Given the description of an element on the screen output the (x, y) to click on. 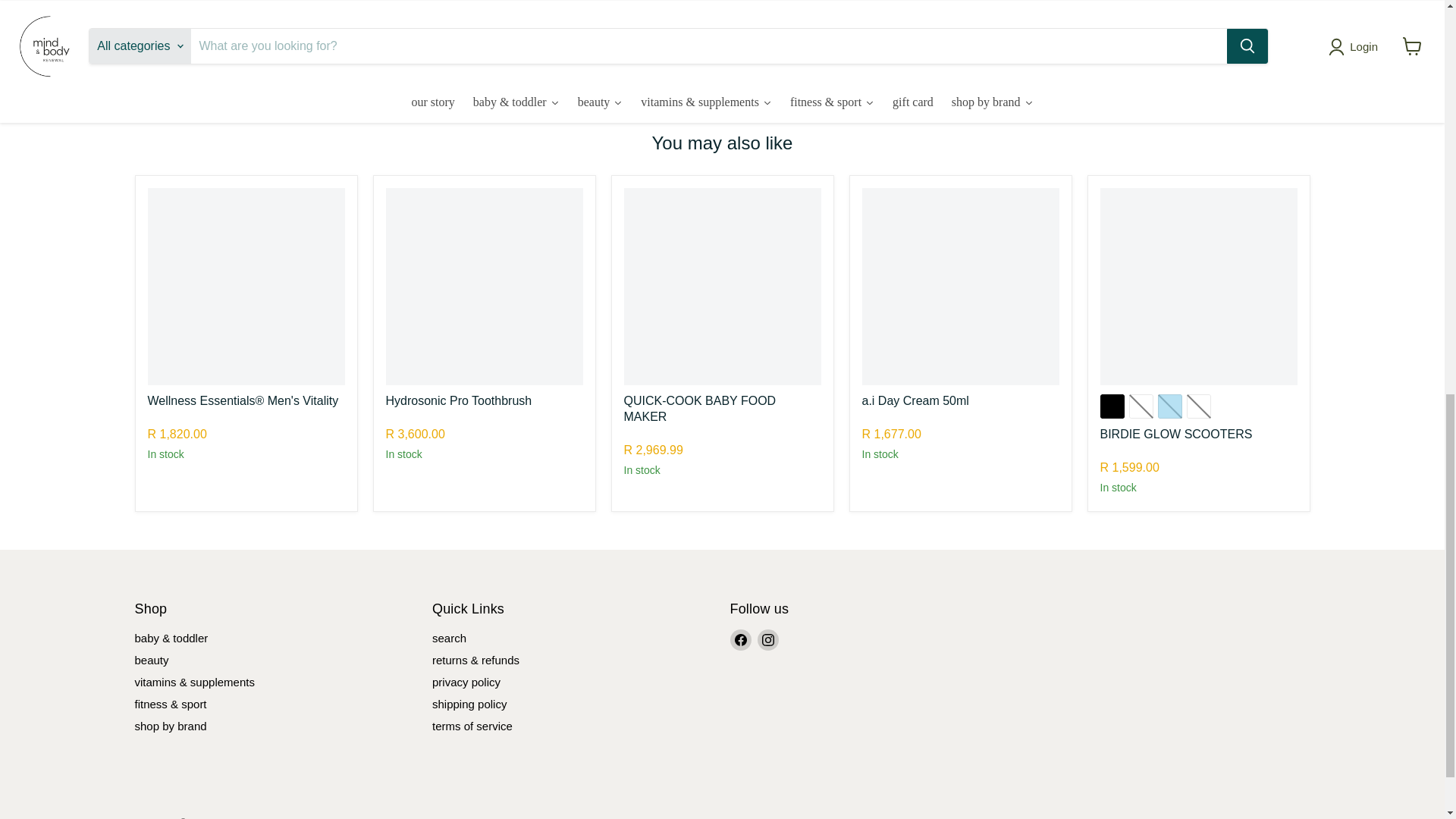
Tommee Tippee (658, 431)
Nimue (875, 415)
Curaprox (405, 415)
Metagenics (171, 415)
Birdie Scooters (1132, 449)
